Given the description of an element on the screen output the (x, y) to click on. 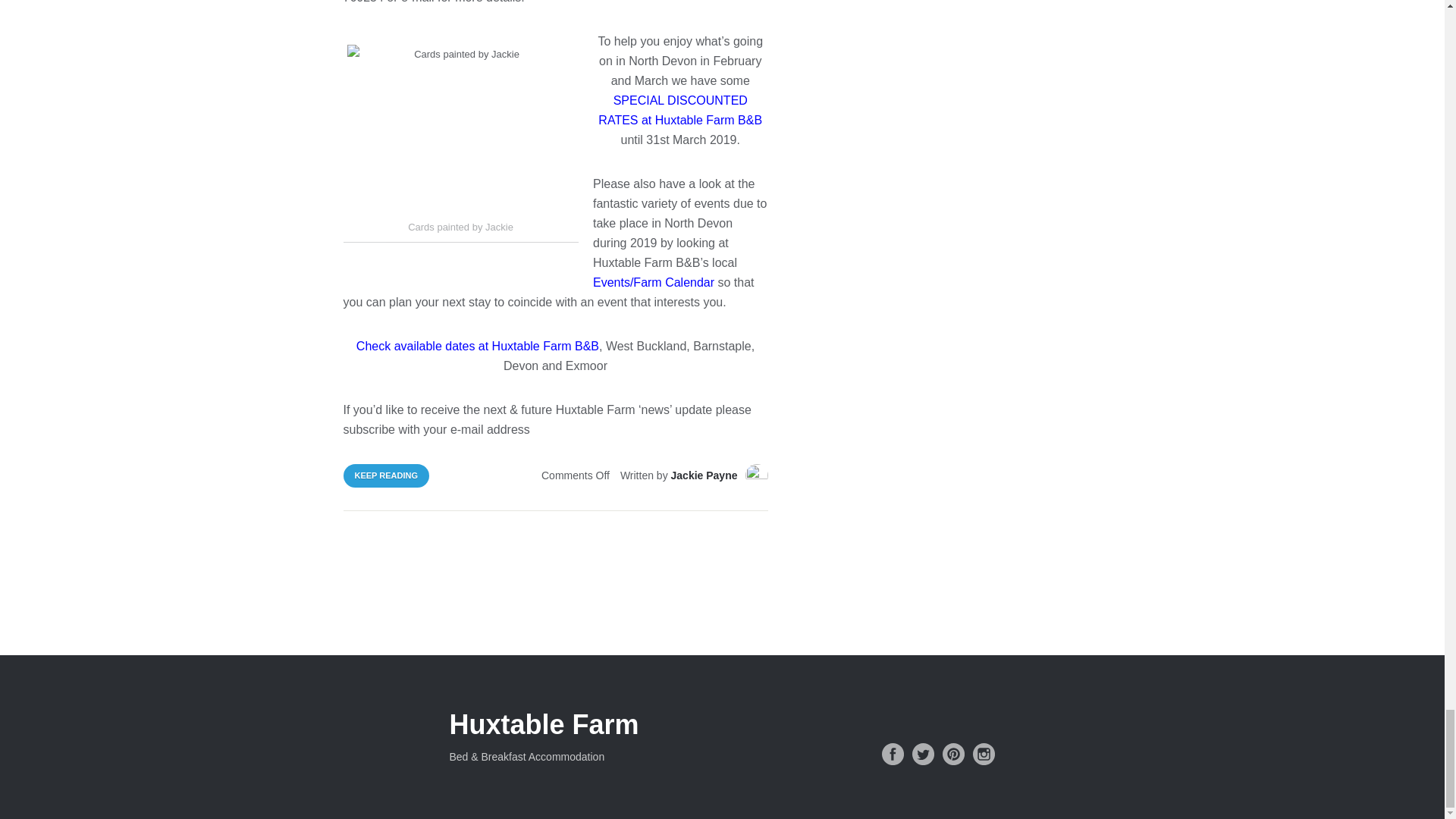
View all posts by Jackie Payne (704, 475)
Follow on Instagram (983, 753)
Follow on Pinterest (952, 753)
Follow on Twitter (922, 753)
Follow on Facebook (892, 753)
